Given the description of an element on the screen output the (x, y) to click on. 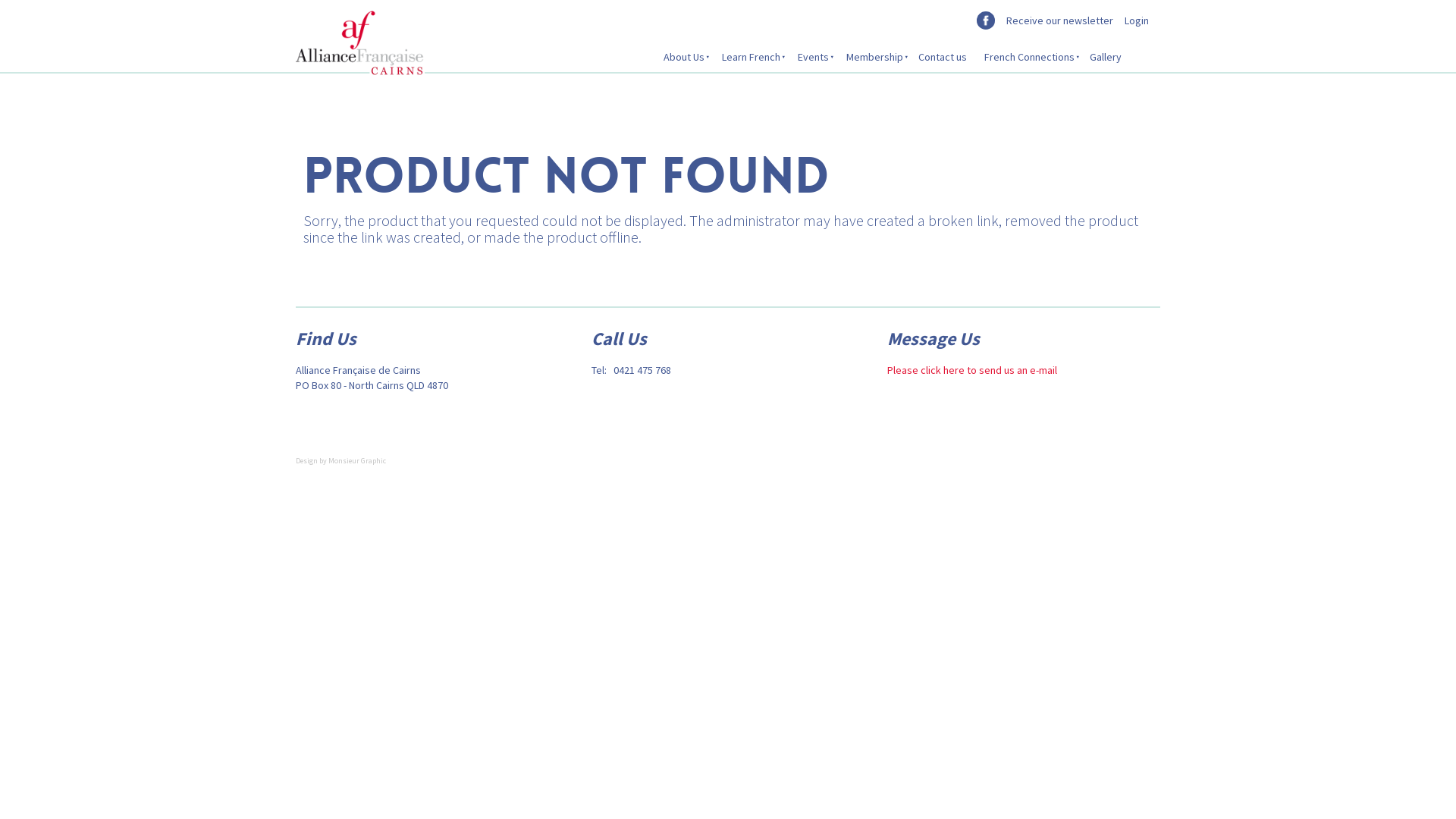
About Us Element type: text (682, 56)
Learn French Element type: text (749, 56)
Events Element type: text (811, 56)
Monsieur Graphic Element type: text (356, 463)
Receive our newsletter Element type: text (1059, 20)
Please click here to send us an e-mail Element type: text (972, 369)
Membership Element type: text (873, 56)
Contact us Element type: text (942, 56)
Login Element type: text (1136, 20)
French Connections Element type: text (1028, 56)
Gallery Element type: text (1105, 56)
